Given the description of an element on the screen output the (x, y) to click on. 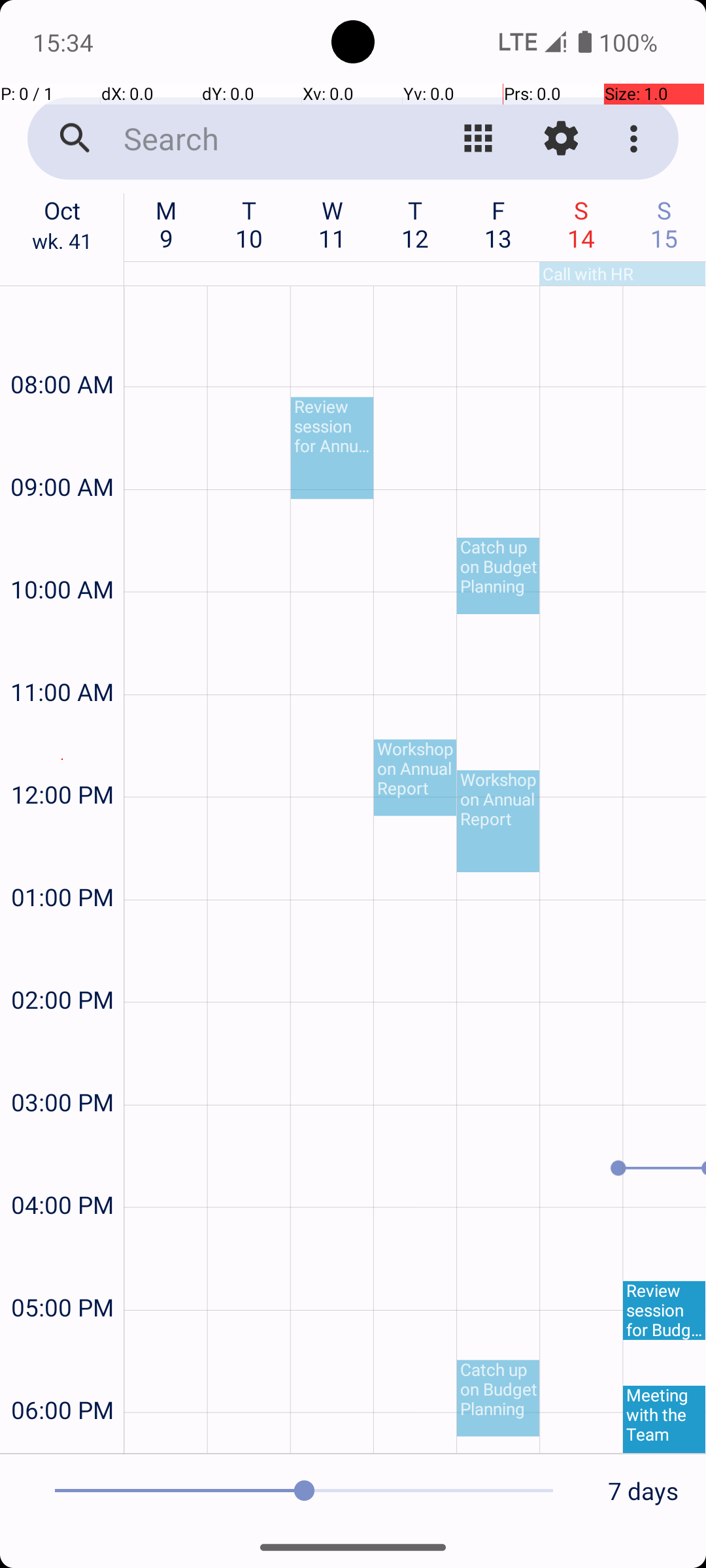
08:00 AM Element type: android.widget.TextView (62, 348)
09:00 AM Element type: android.widget.TextView (62, 451)
10:00 AM Element type: android.widget.TextView (62, 554)
11:00 AM Element type: android.widget.TextView (62, 656)
12:00 PM Element type: android.widget.TextView (62, 759)
01:00 PM Element type: android.widget.TextView (62, 861)
02:00 PM Element type: android.widget.TextView (62, 964)
03:00 PM Element type: android.widget.TextView (62, 1066)
04:00 PM Element type: android.widget.TextView (62, 1169)
05:00 PM Element type: android.widget.TextView (62, 1272)
06:00 PM Element type: android.widget.TextView (62, 1374)
07:00 PM Element type: android.widget.TextView (62, 1440)
